Given the description of an element on the screen output the (x, y) to click on. 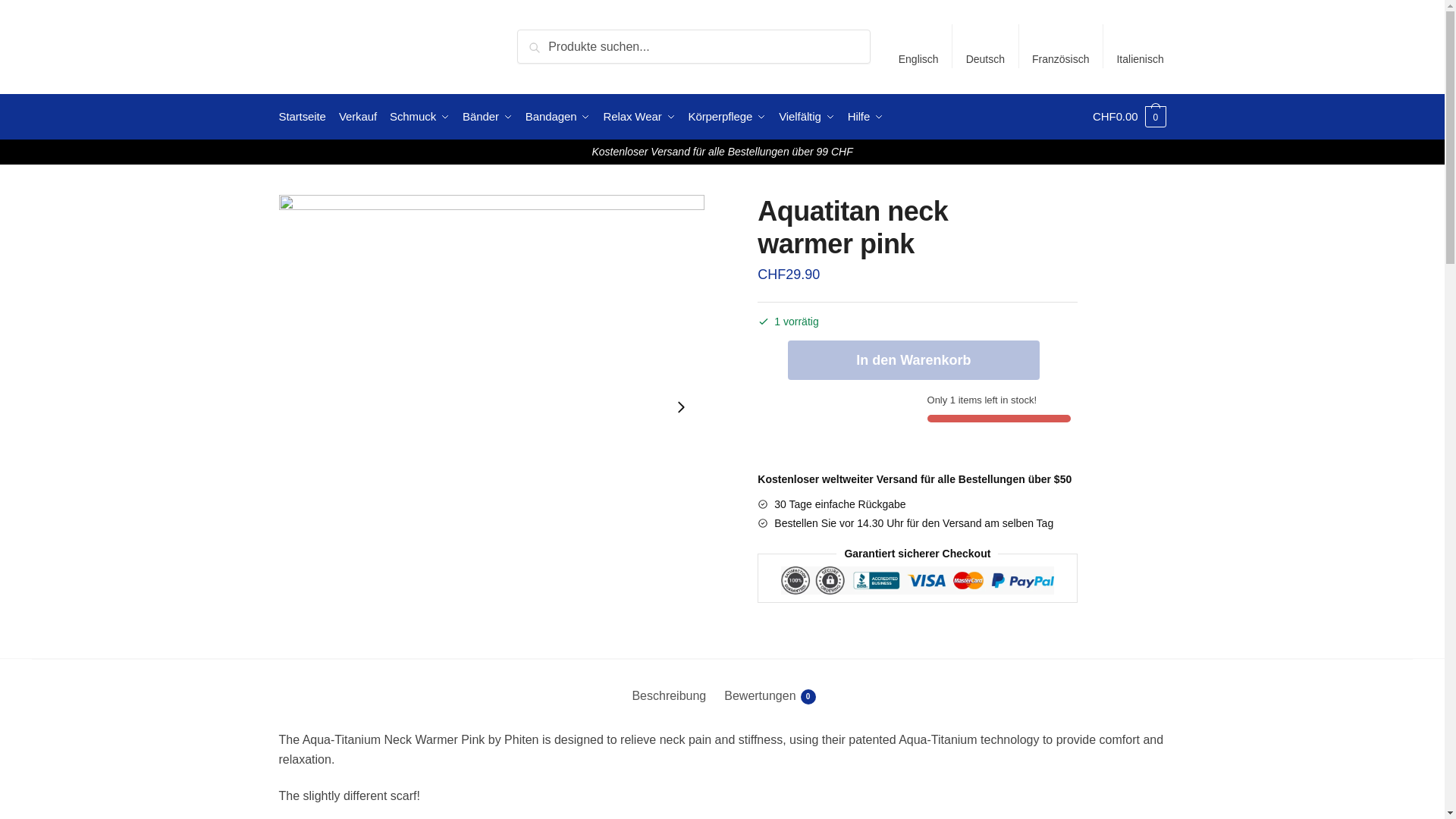
Schmuck (420, 116)
Deutsch (984, 45)
Bandagen (557, 116)
Ihren Warenkorb ansehen (1129, 116)
Suche (538, 39)
Englisch (917, 45)
Italienisch (1139, 45)
Relax Wear (638, 116)
Verkauf (358, 116)
Startseite (306, 116)
